Given the description of an element on the screen output the (x, y) to click on. 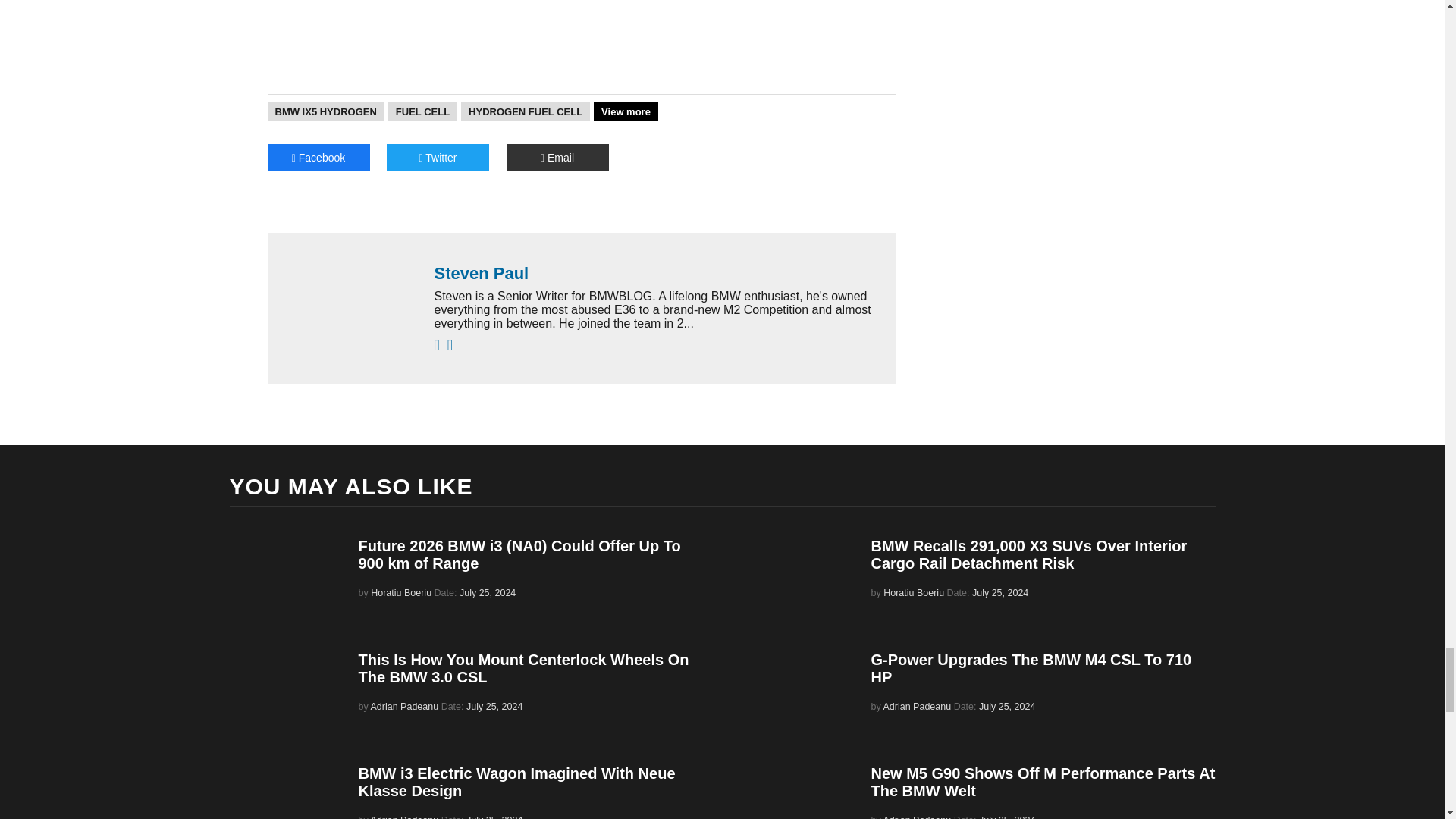
Facebook (317, 157)
Twitter (438, 157)
Steven Paul (656, 273)
